Given the description of an element on the screen output the (x, y) to click on. 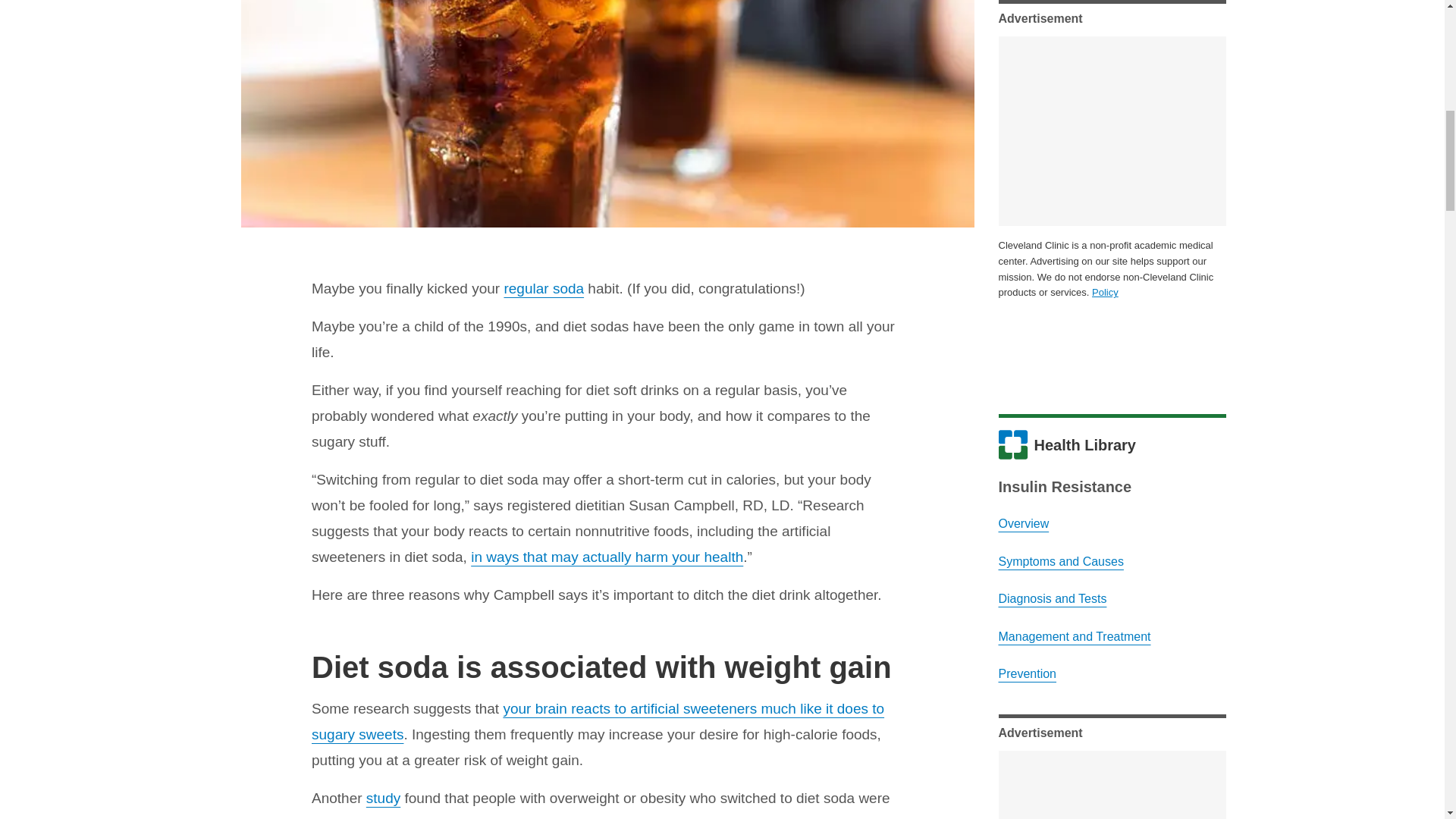
study (383, 797)
in ways that may actually harm your health (606, 556)
regular soda (543, 288)
